Given the description of an element on the screen output the (x, y) to click on. 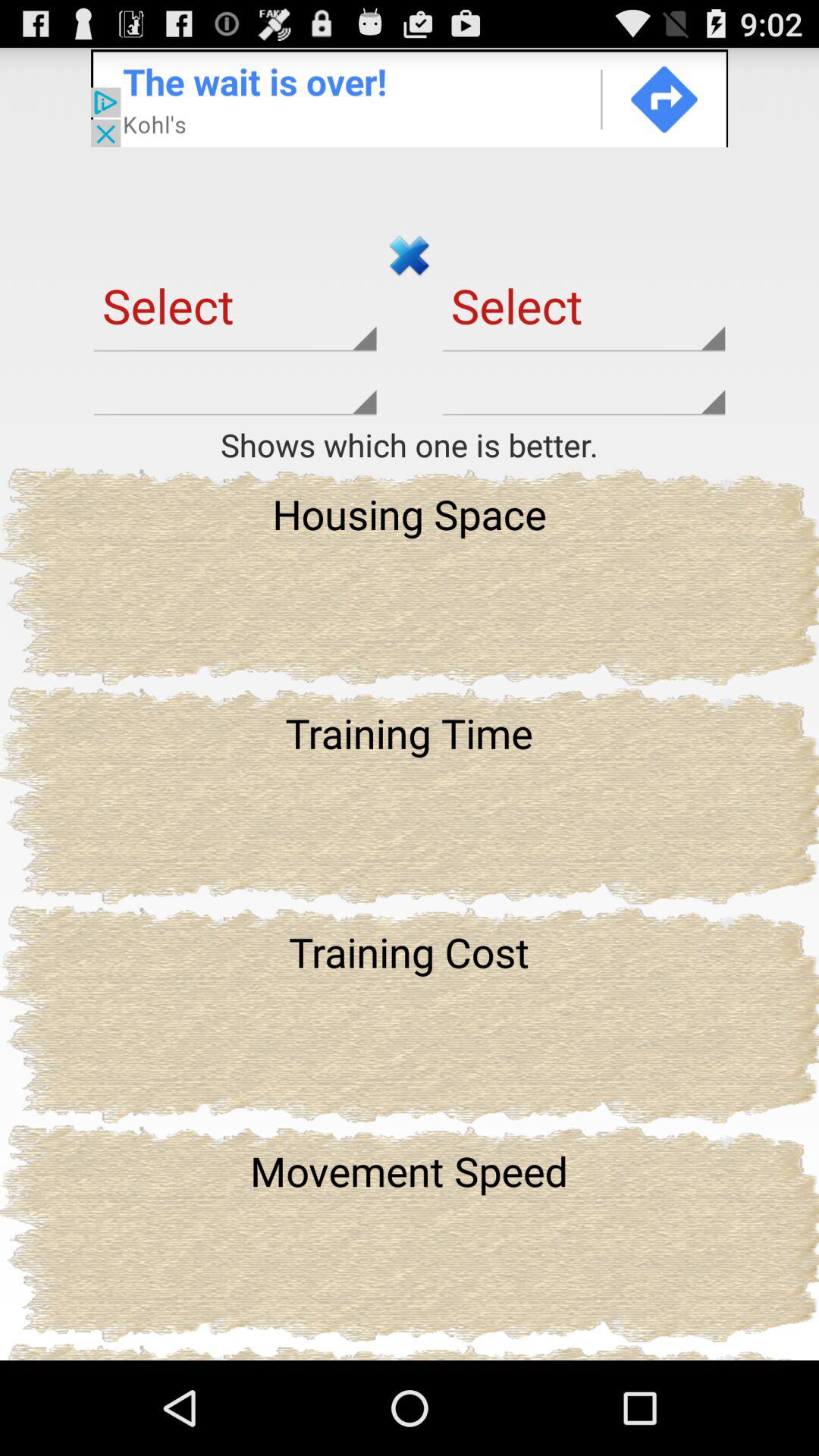
google adsense advertisement (409, 97)
